Given the description of an element on the screen output the (x, y) to click on. 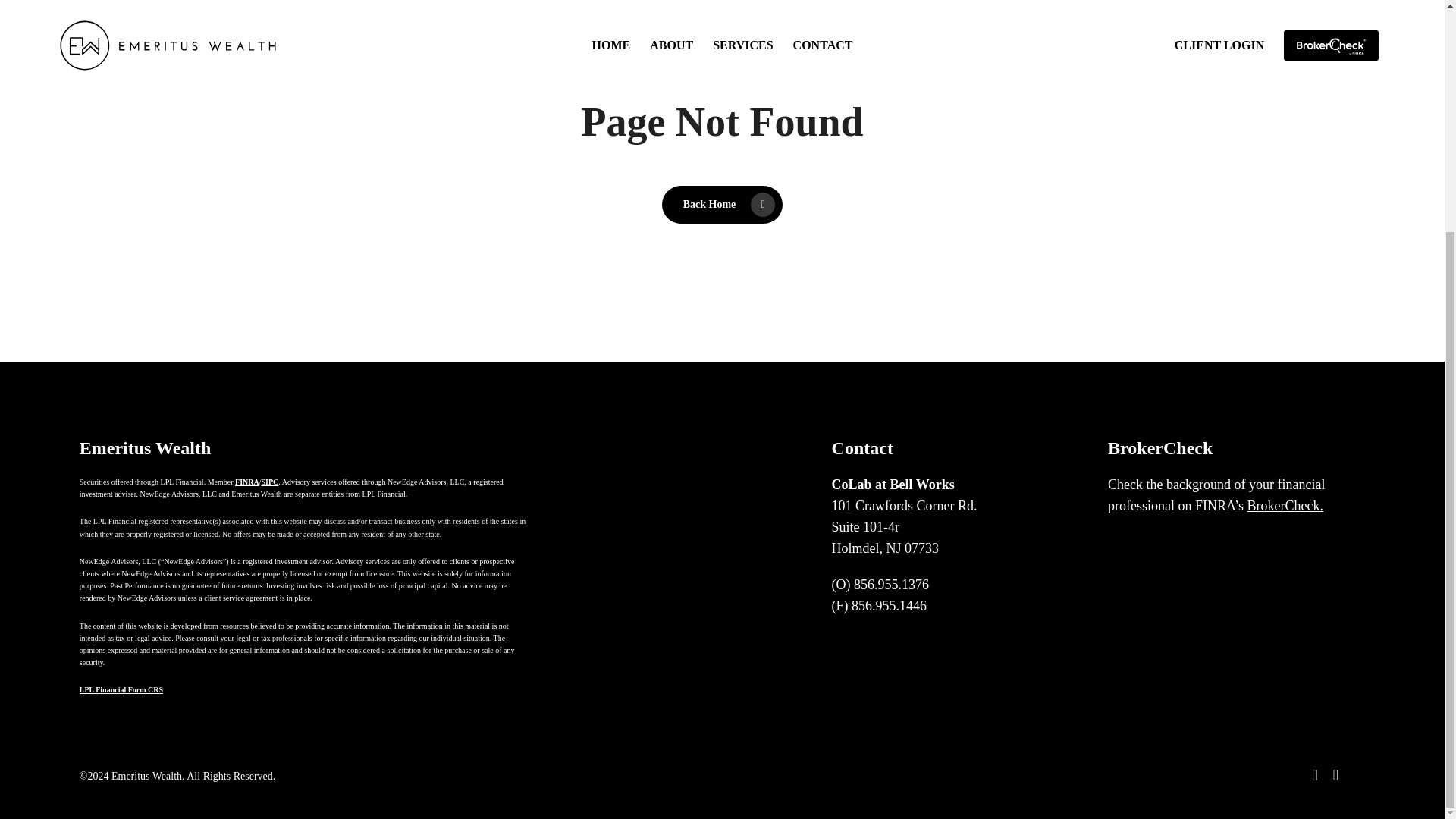
LPL Financial Form CRS (121, 687)
Back Home (722, 204)
FINRA (246, 481)
BrokerCheck. (1285, 505)
SIPC (269, 481)
